Given the description of an element on the screen output the (x, y) to click on. 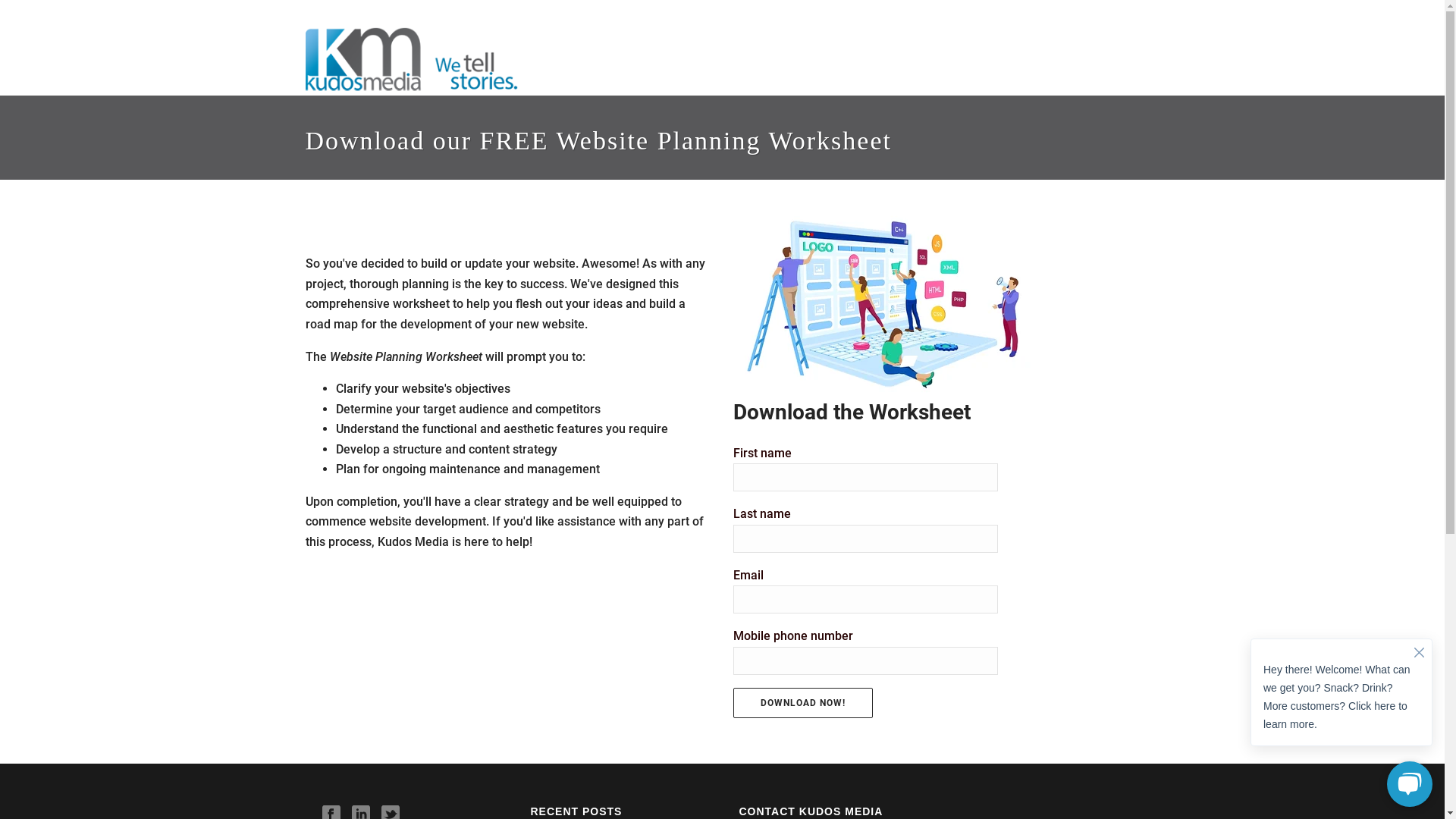
Kudos Media Element type: hover (420, 60)
Website Planning Worksheet Image Element type: hover (884, 304)
Download Now! Element type: text (802, 702)
Content and Digital Marketing Agency Element type: hover (420, 60)
